Given the description of an element on the screen output the (x, y) to click on. 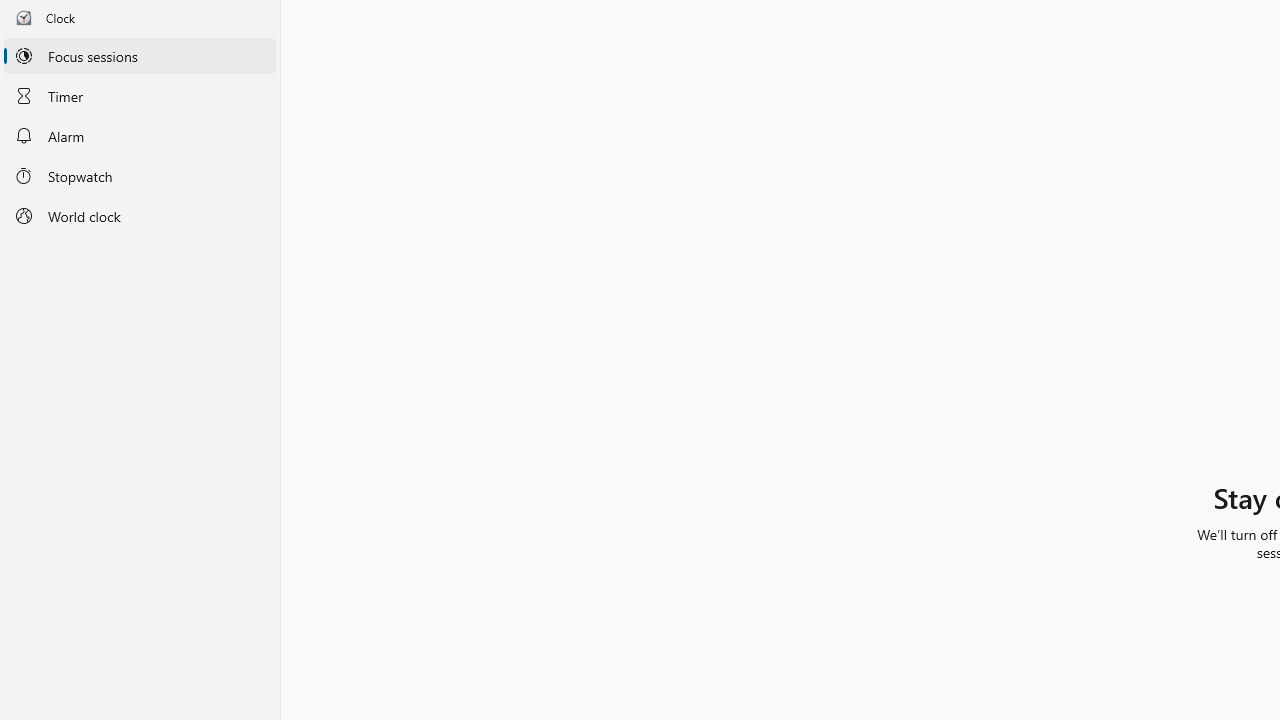
Alarm (139, 136)
Timer (139, 95)
Stopwatch (139, 175)
World clock (139, 216)
Focus sessions (139, 56)
